Given the description of an element on the screen output the (x, y) to click on. 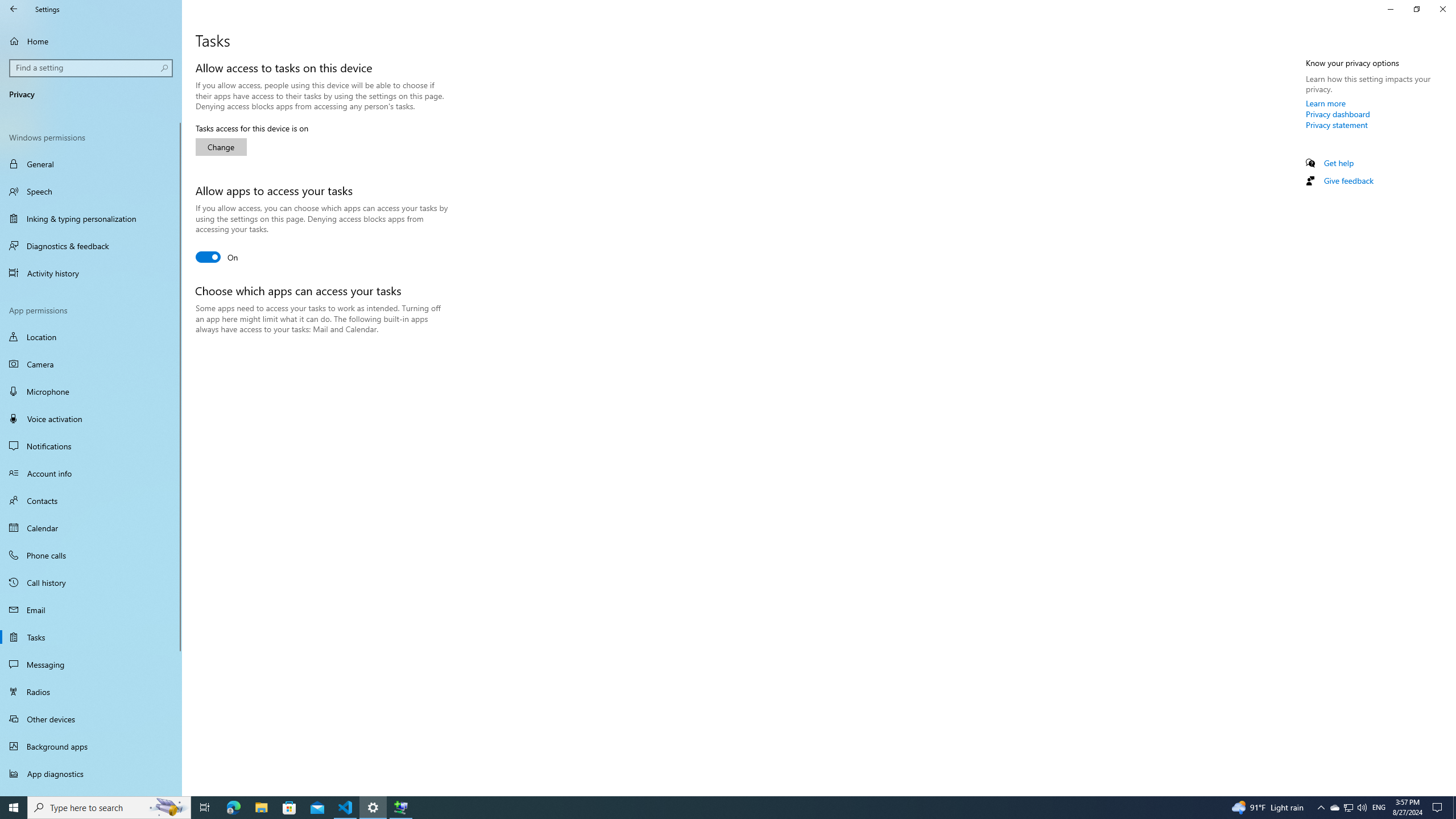
Contacts (91, 500)
Privacy dashboard (1338, 113)
Allow apps to access your tasks (216, 257)
Get help (1338, 162)
Minimize Settings (1390, 9)
